Given the description of an element on the screen output the (x, y) to click on. 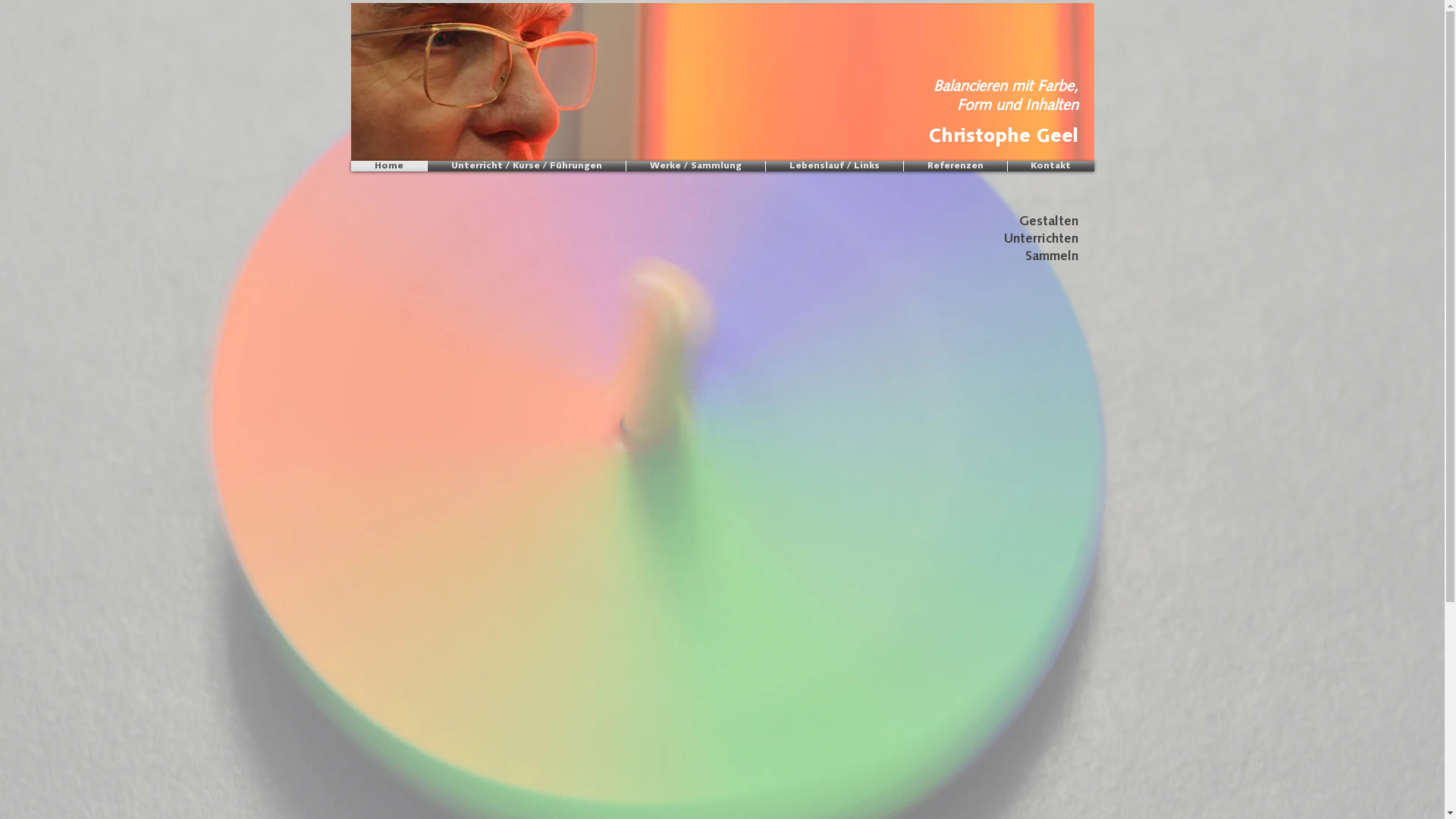
Kontakt Element type: text (1050, 165)
Werke / Sammlung Element type: text (695, 165)
Lebenslauf / Links Element type: text (834, 165)
Home Element type: text (388, 165)
Referenzen Element type: text (955, 165)
